Given the description of an element on the screen output the (x, y) to click on. 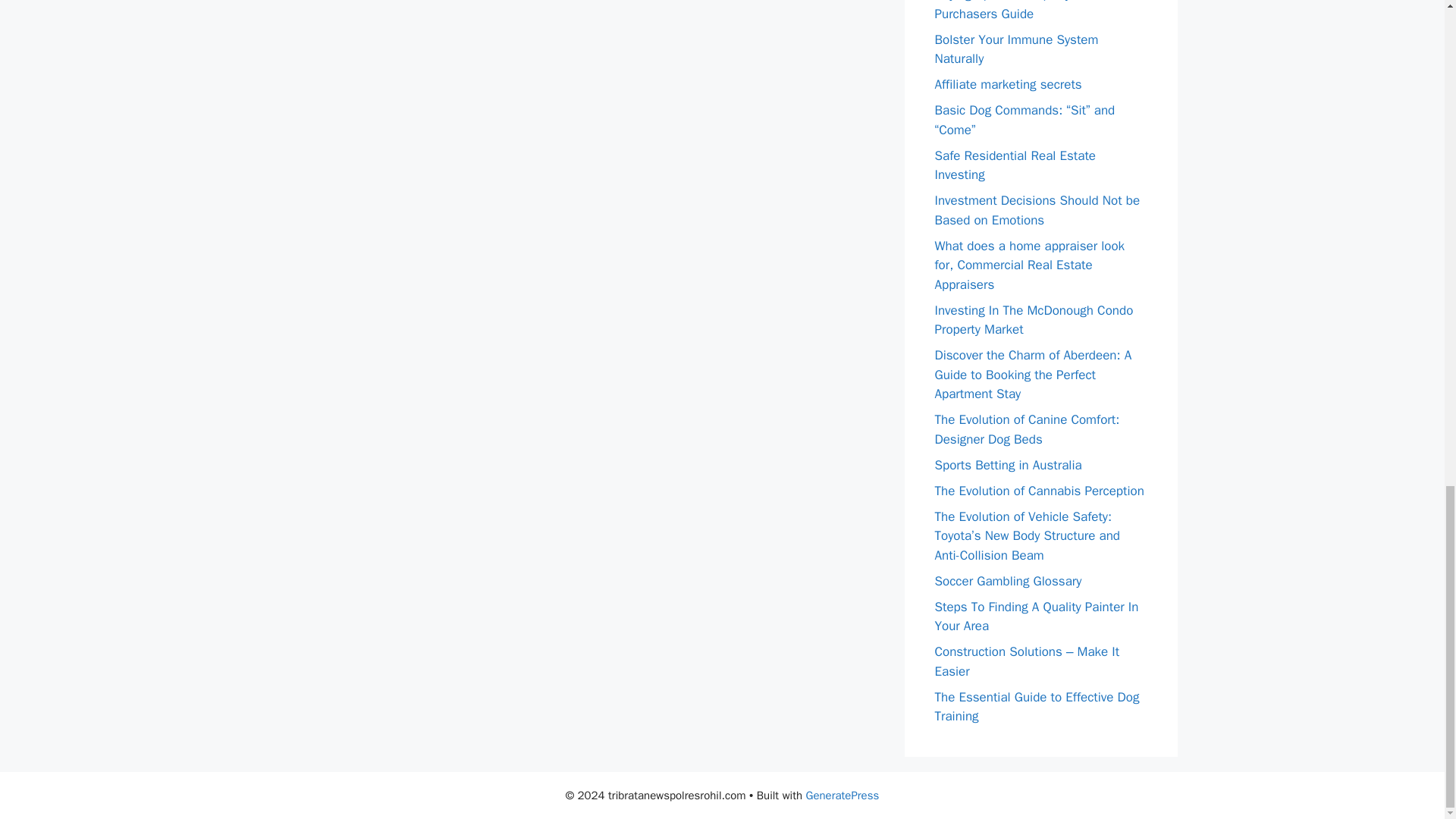
Steps To Finding A Quality Painter In Your Area (1036, 616)
Investing In The McDonough Condo Property Market (1033, 319)
Soccer Gambling Glossary (1007, 580)
Investment Decisions Should Not be Based on Emotions (1037, 210)
Sports Betting in Australia (1007, 464)
The Evolution of Canine Comfort: Designer Dog Beds (1026, 429)
The Evolution of Cannabis Perception (1038, 489)
Bolster Your Immune System Naturally (1015, 49)
Safe Residential Real Estate Investing (1015, 164)
Affiliate marketing secrets (1007, 84)
The Essential Guide to Effective Dog Training (1036, 705)
